Given the description of an element on the screen output the (x, y) to click on. 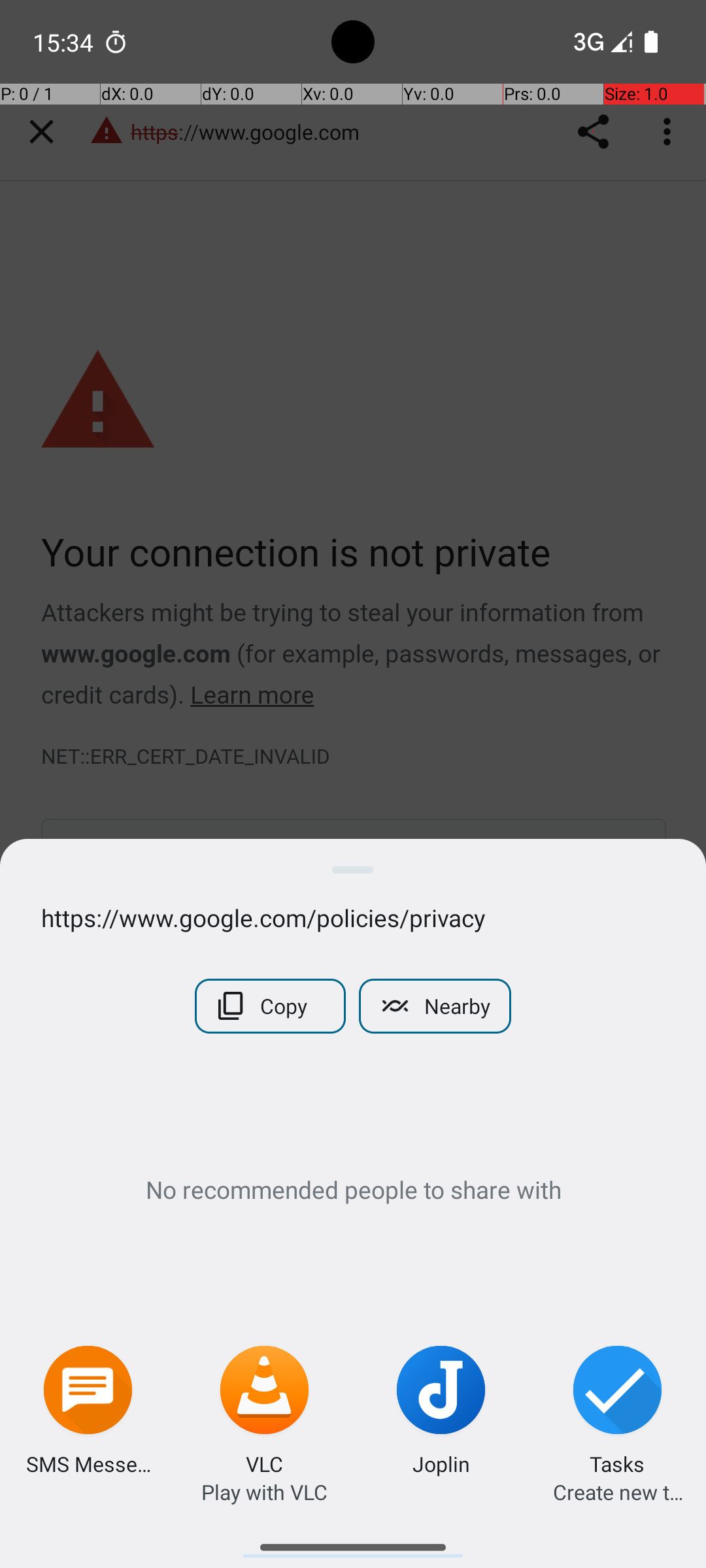
https://www.google.com/policies/privacy Element type: android.widget.TextView (352, 917)
